Given the description of an element on the screen output the (x, y) to click on. 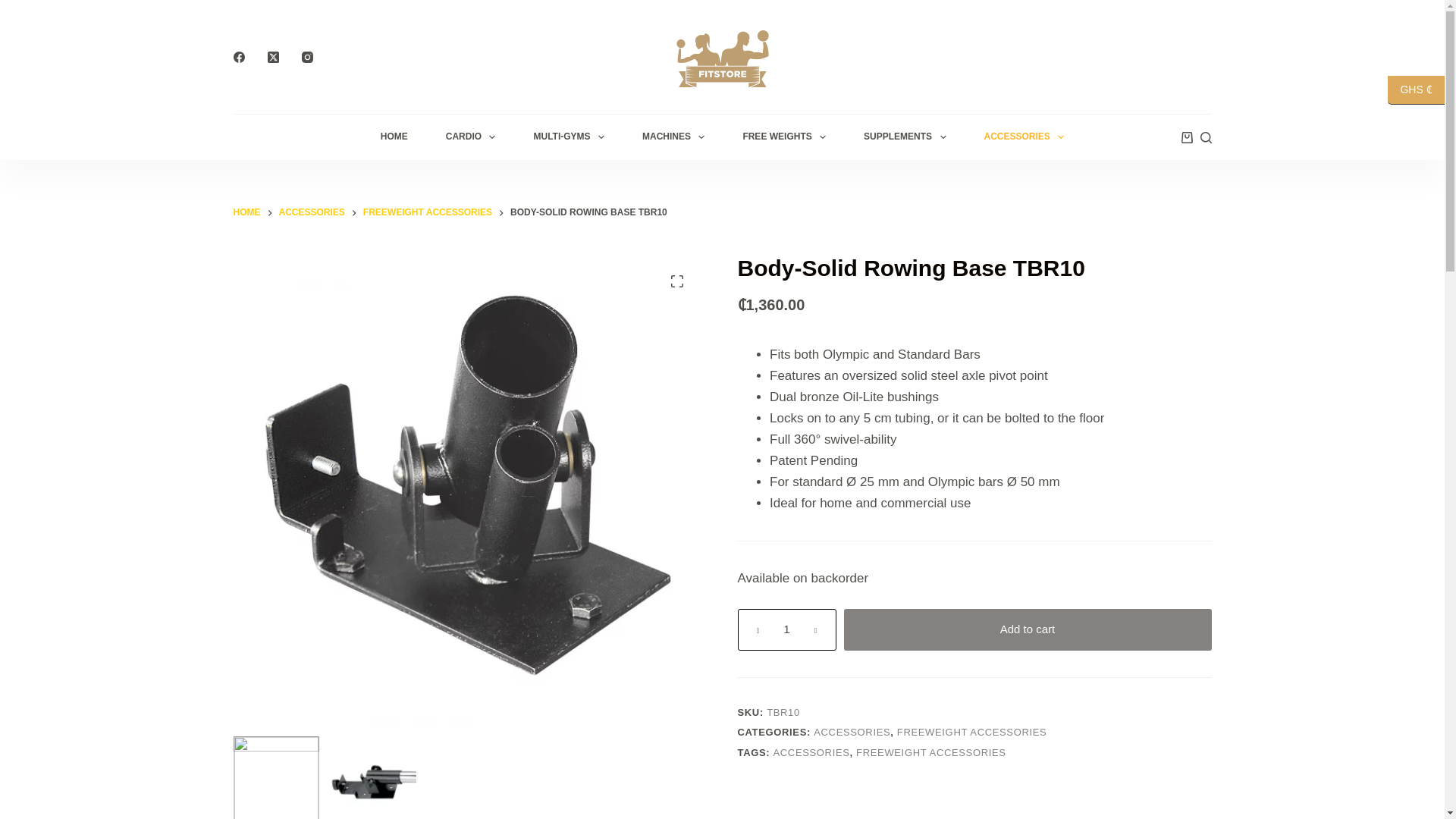
Skip to content (15, 7)
1 (785, 629)
